Given the description of an element on the screen output the (x, y) to click on. 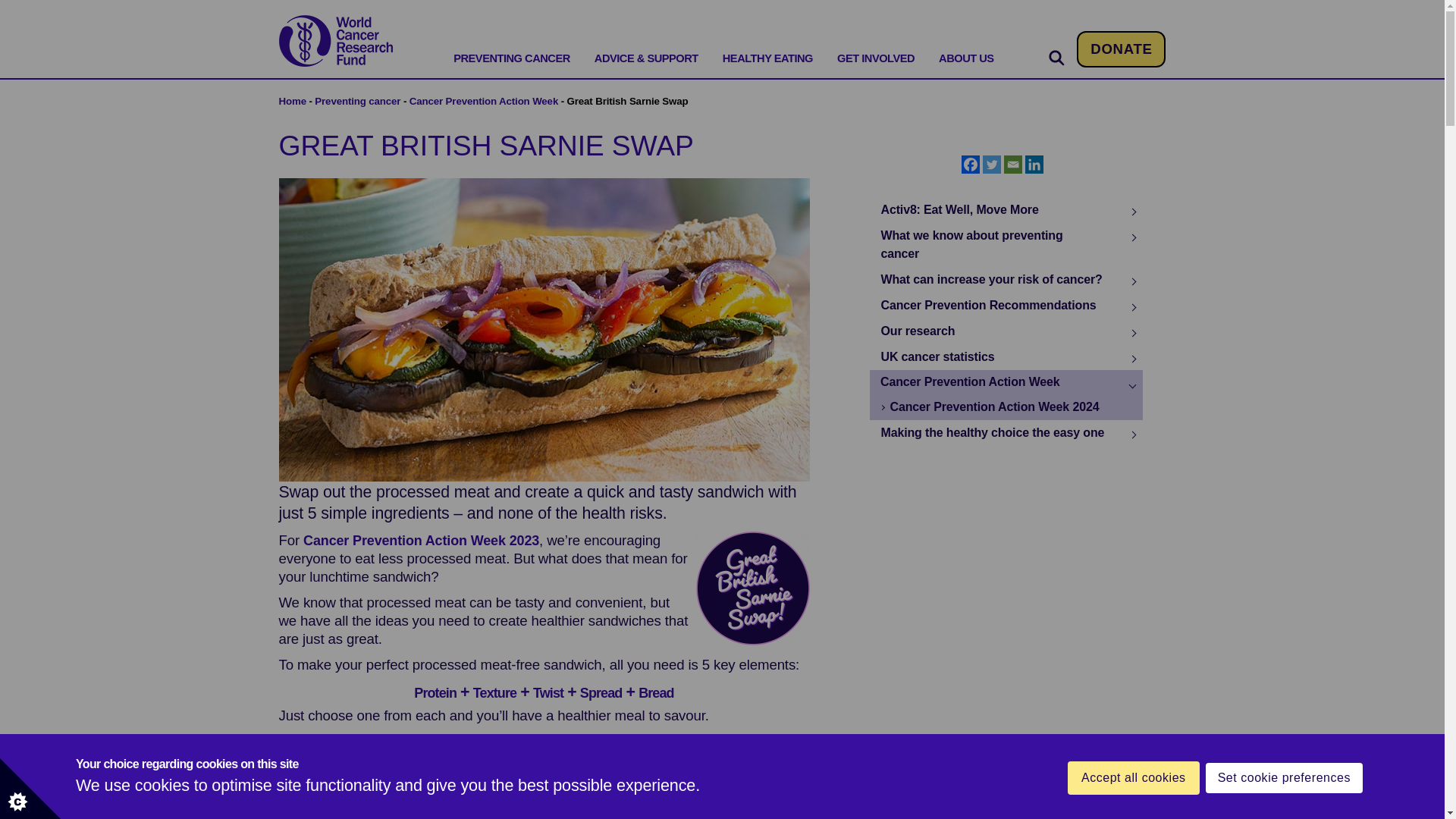
Facebook (969, 164)
Email (1013, 164)
Linkedin (1034, 164)
PREVENTING CANCER (511, 58)
ABOUT US (966, 58)
Twitter (991, 164)
GET INVOLVED (875, 58)
HEALTHY EATING (767, 58)
Accept all cookies (1133, 811)
Set cookie preferences (1283, 809)
